Given the description of an element on the screen output the (x, y) to click on. 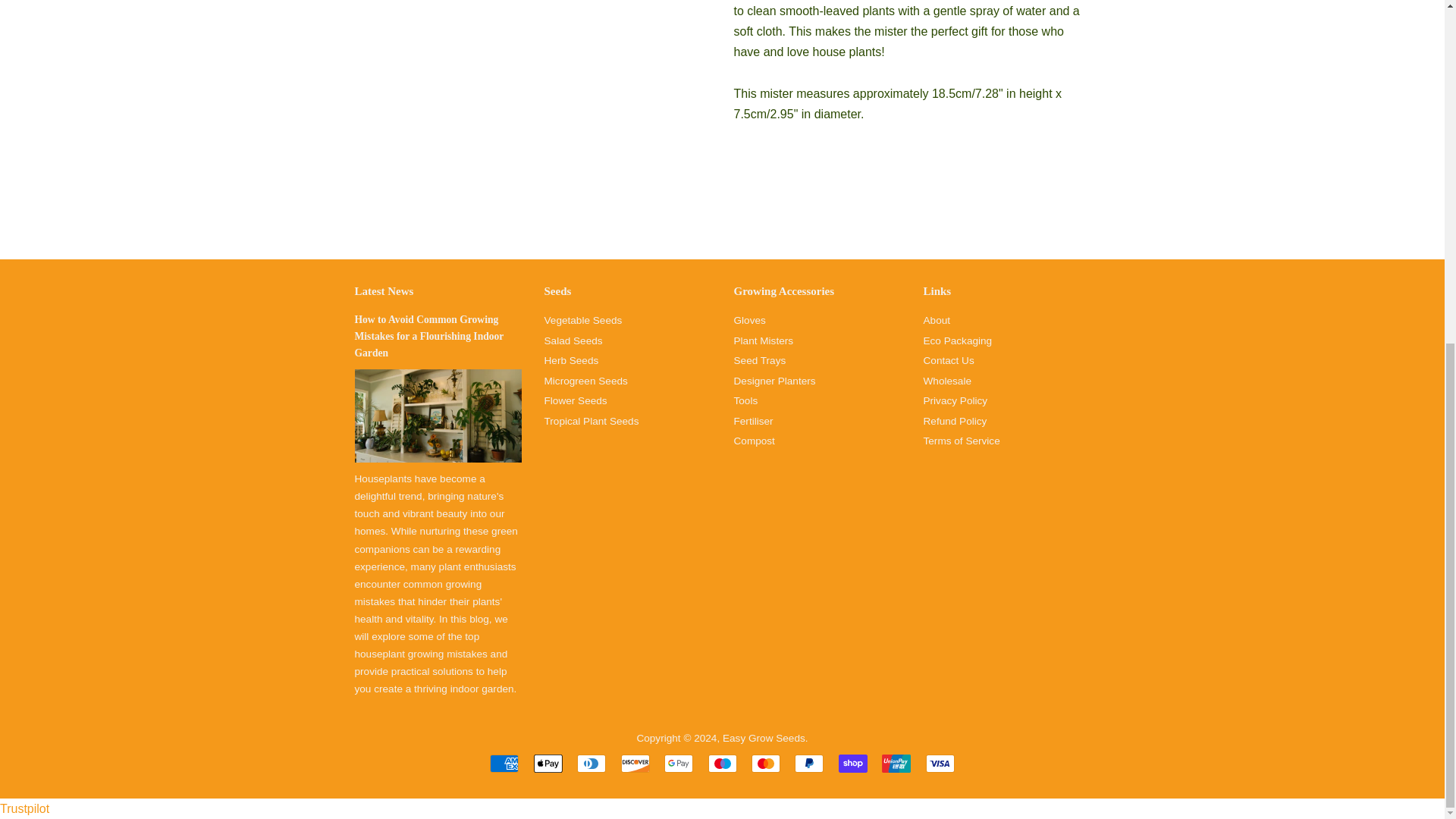
Discover (635, 763)
Shop Pay (852, 763)
Google Pay (678, 763)
PayPal (809, 763)
Maestro (721, 763)
Visa (940, 763)
Diners Club (590, 763)
Mastercard (765, 763)
Apple Pay (548, 763)
Union Pay (896, 763)
American Express (503, 763)
